Given the description of an element on the screen output the (x, y) to click on. 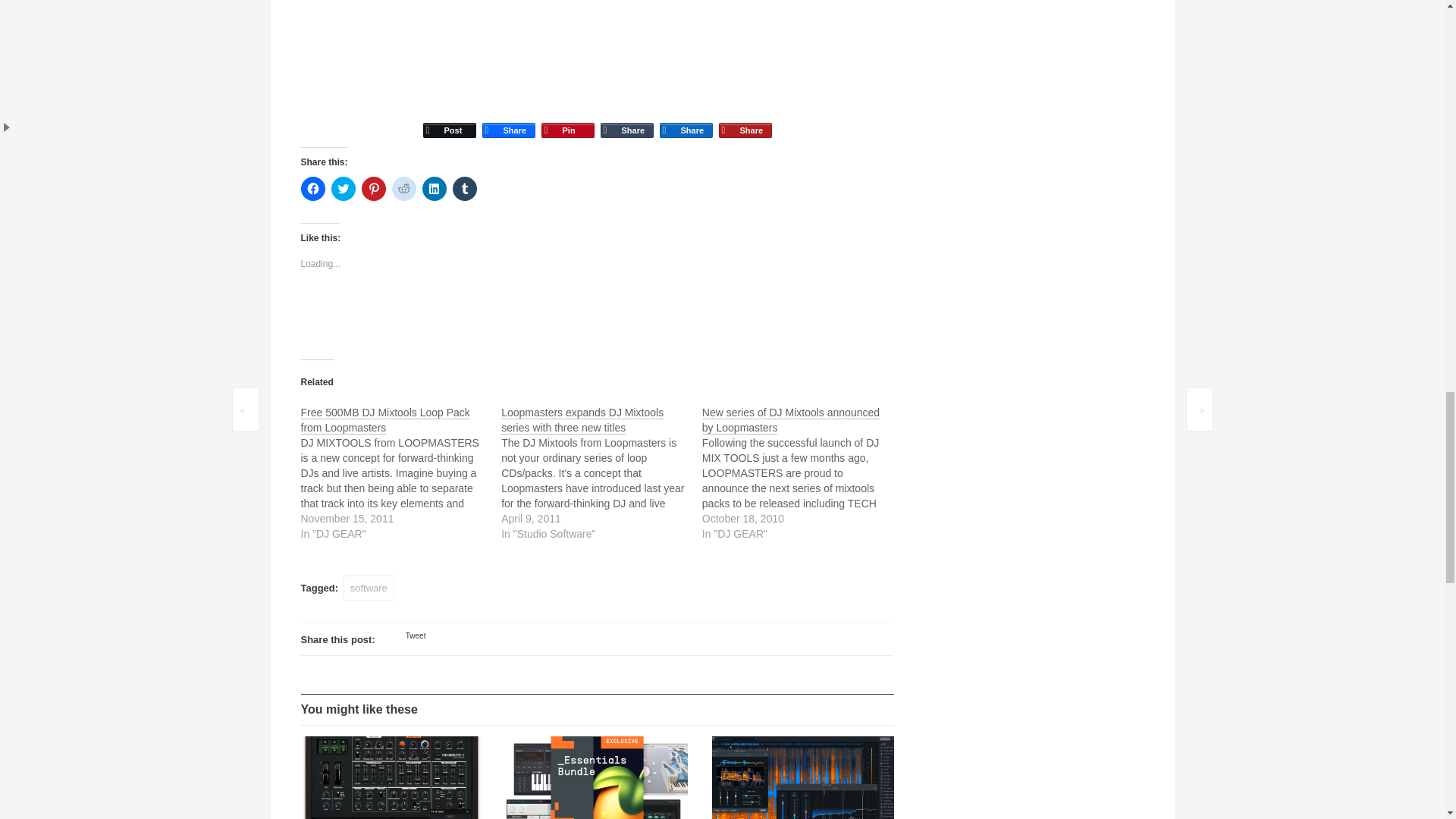
Click to share on Facebook (311, 188)
Tumblr (626, 116)
Pinterest (567, 116)
Facebook (508, 116)
LinkedIn (686, 116)
Flipboard (745, 116)
